Given the description of an element on the screen output the (x, y) to click on. 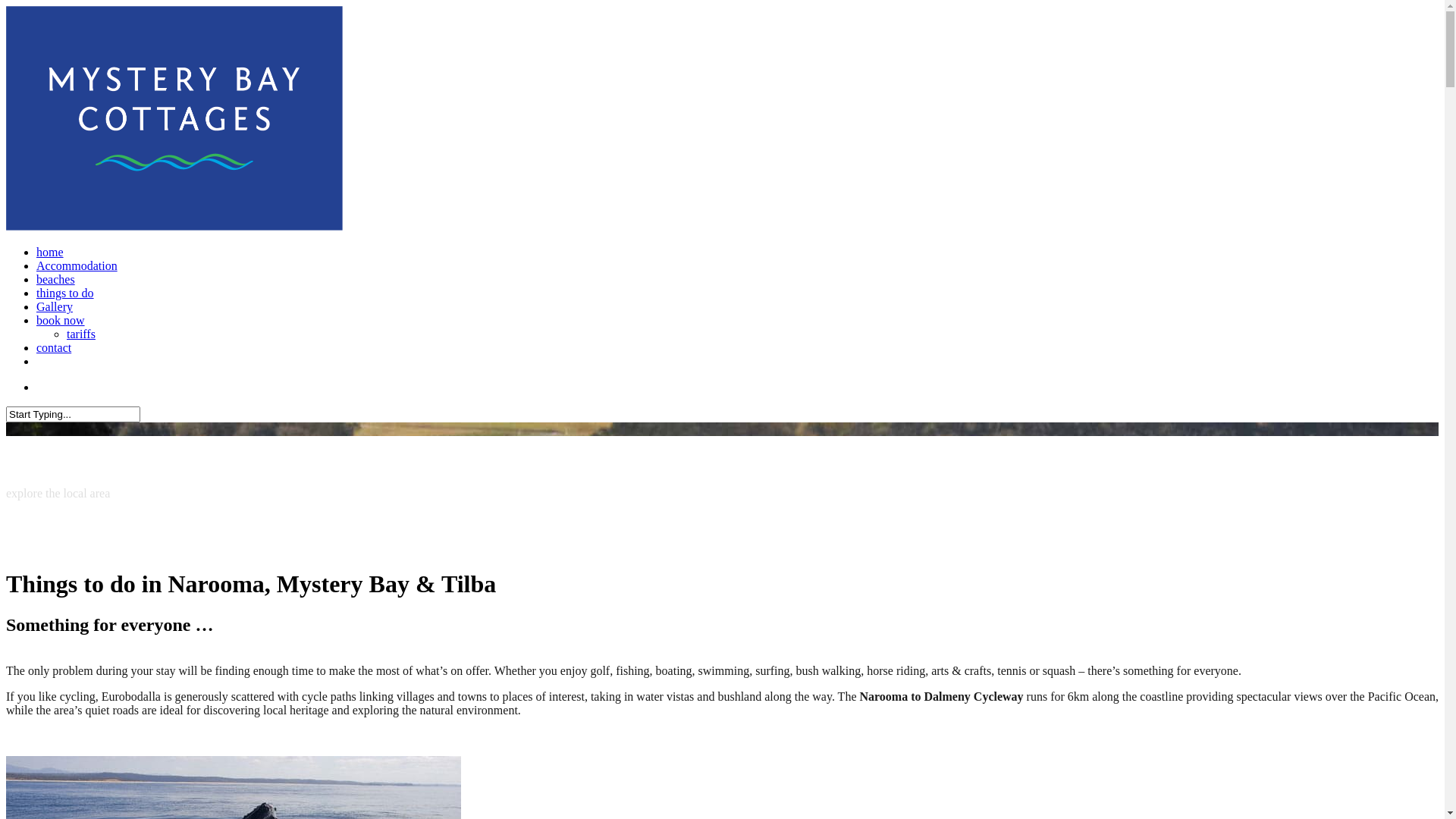
contact Element type: text (53, 347)
home Element type: text (49, 251)
book now Element type: text (60, 319)
Gallery Element type: text (54, 306)
tariffs Element type: text (80, 333)
things to do Element type: text (65, 292)
Accommodation Element type: text (76, 265)
beaches Element type: text (55, 279)
